Given the description of an element on the screen output the (x, y) to click on. 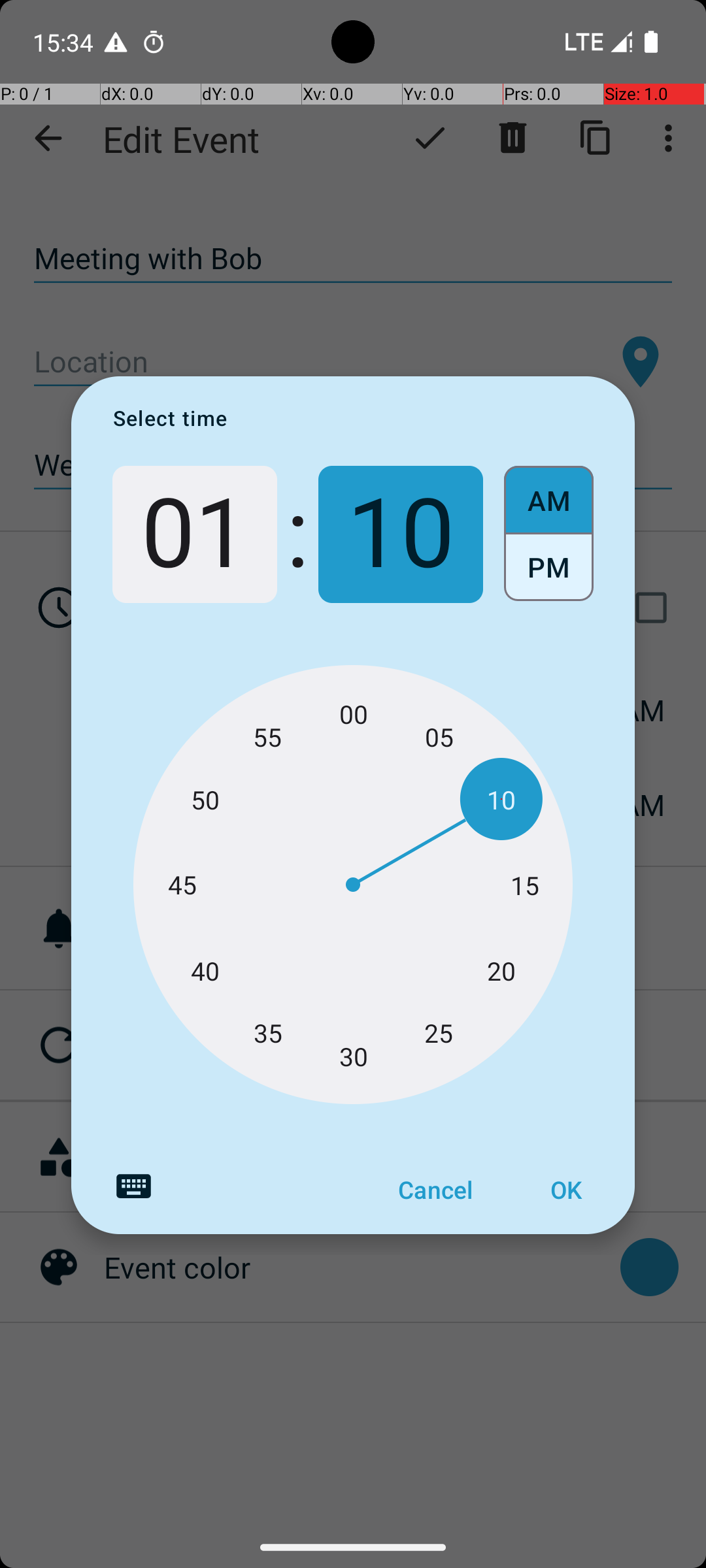
01 Element type: android.view.View (194, 534)
Select AM or PM Element type: android.widget.LinearLayout (548, 534)
